Given the description of an element on the screen output the (x, y) to click on. 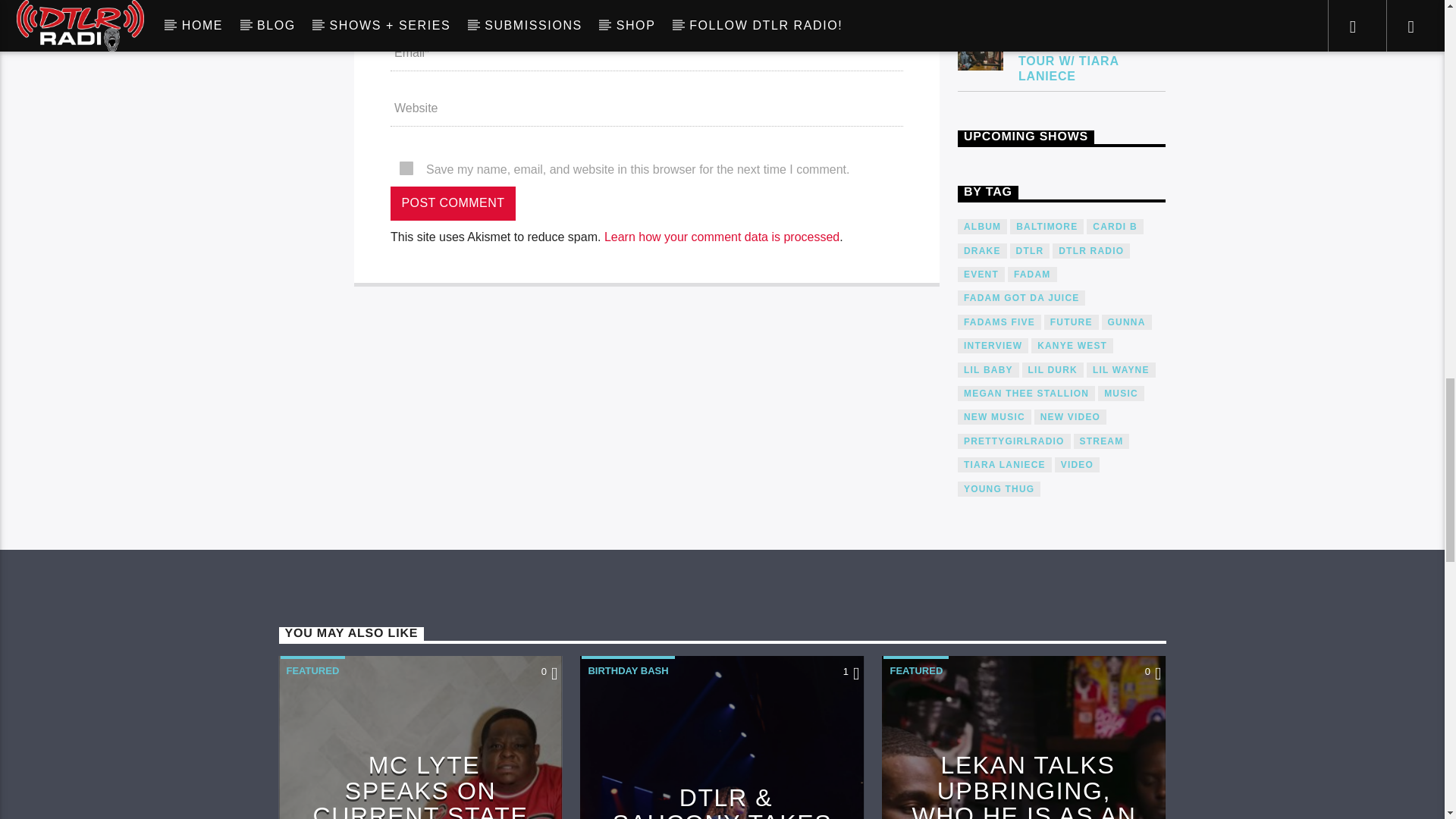
Post Comment (452, 203)
